Given the description of an element on the screen output the (x, y) to click on. 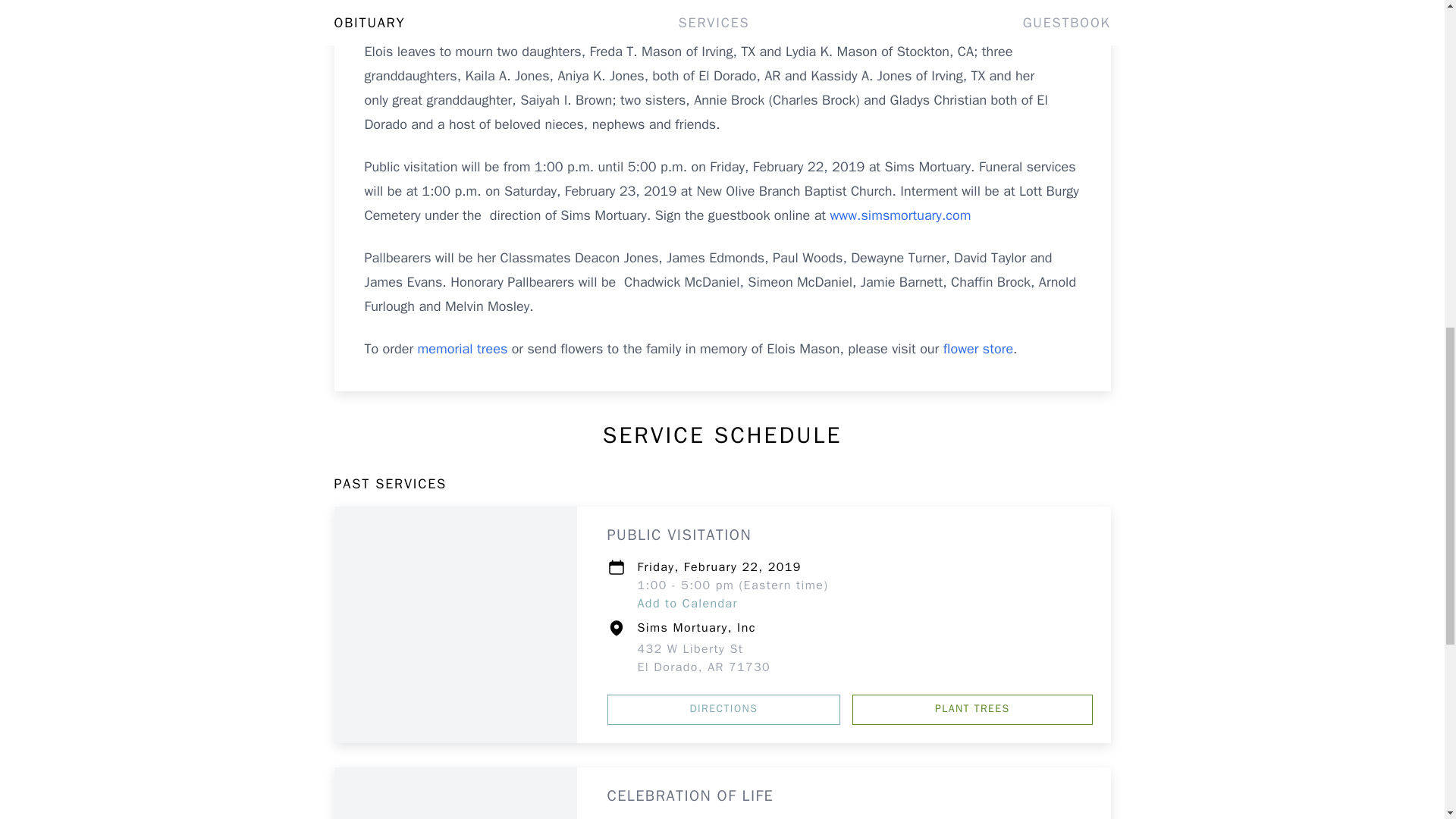
PLANT TREES (971, 709)
Add to Calendar (687, 603)
DIRECTIONS (703, 657)
memorial trees (723, 709)
flower store (462, 348)
www.simsmortuary.com (978, 348)
